Given the description of an element on the screen output the (x, y) to click on. 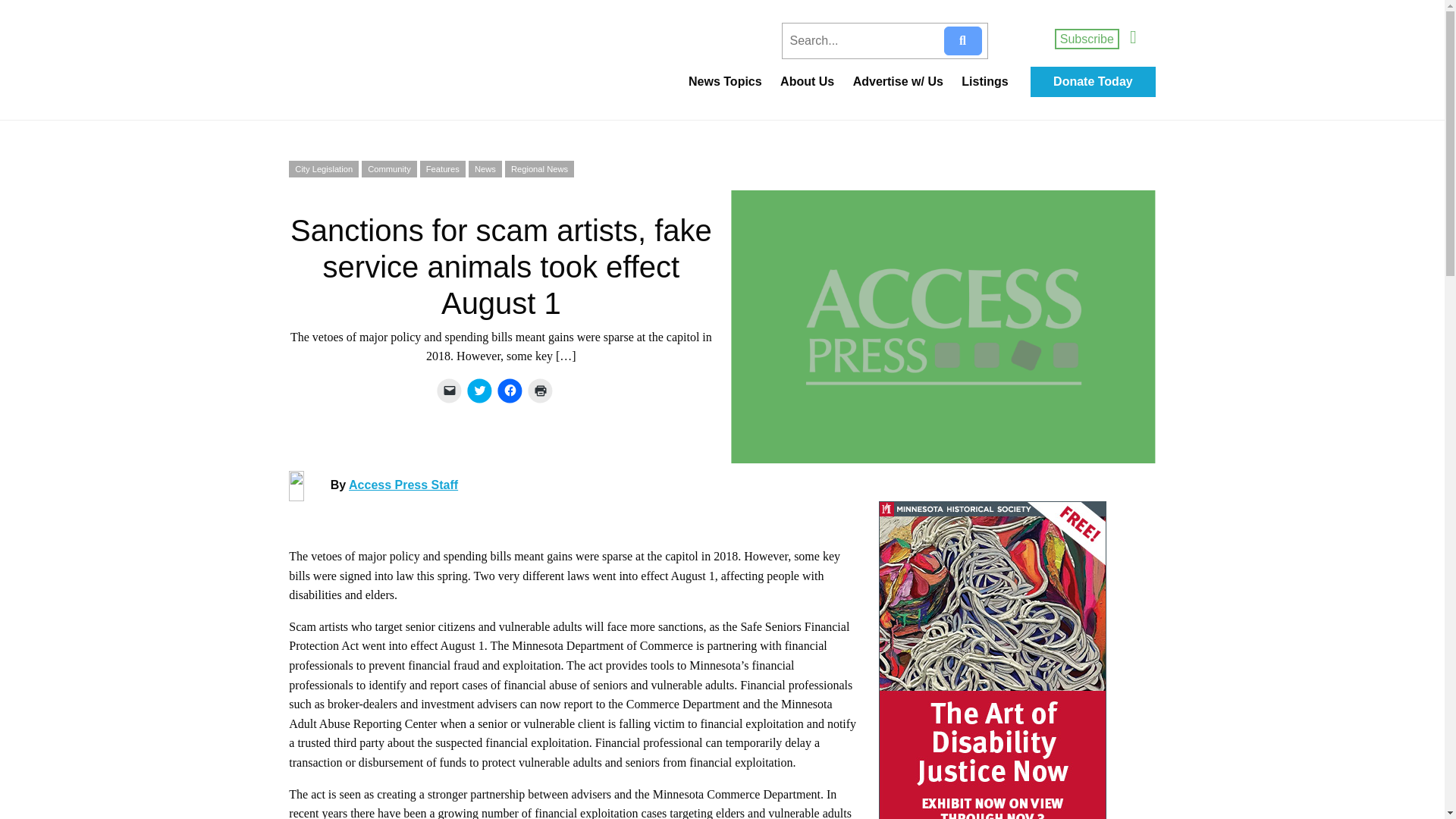
Click to share on Facebook (509, 390)
About Us (807, 81)
Click to print (540, 390)
Click to share on Twitter (479, 390)
Subscribe (1086, 38)
News Topics (725, 81)
Access Press home page (390, 64)
Access Press (390, 64)
Click to email a link to a friend (449, 390)
